Given the description of an element on the screen output the (x, y) to click on. 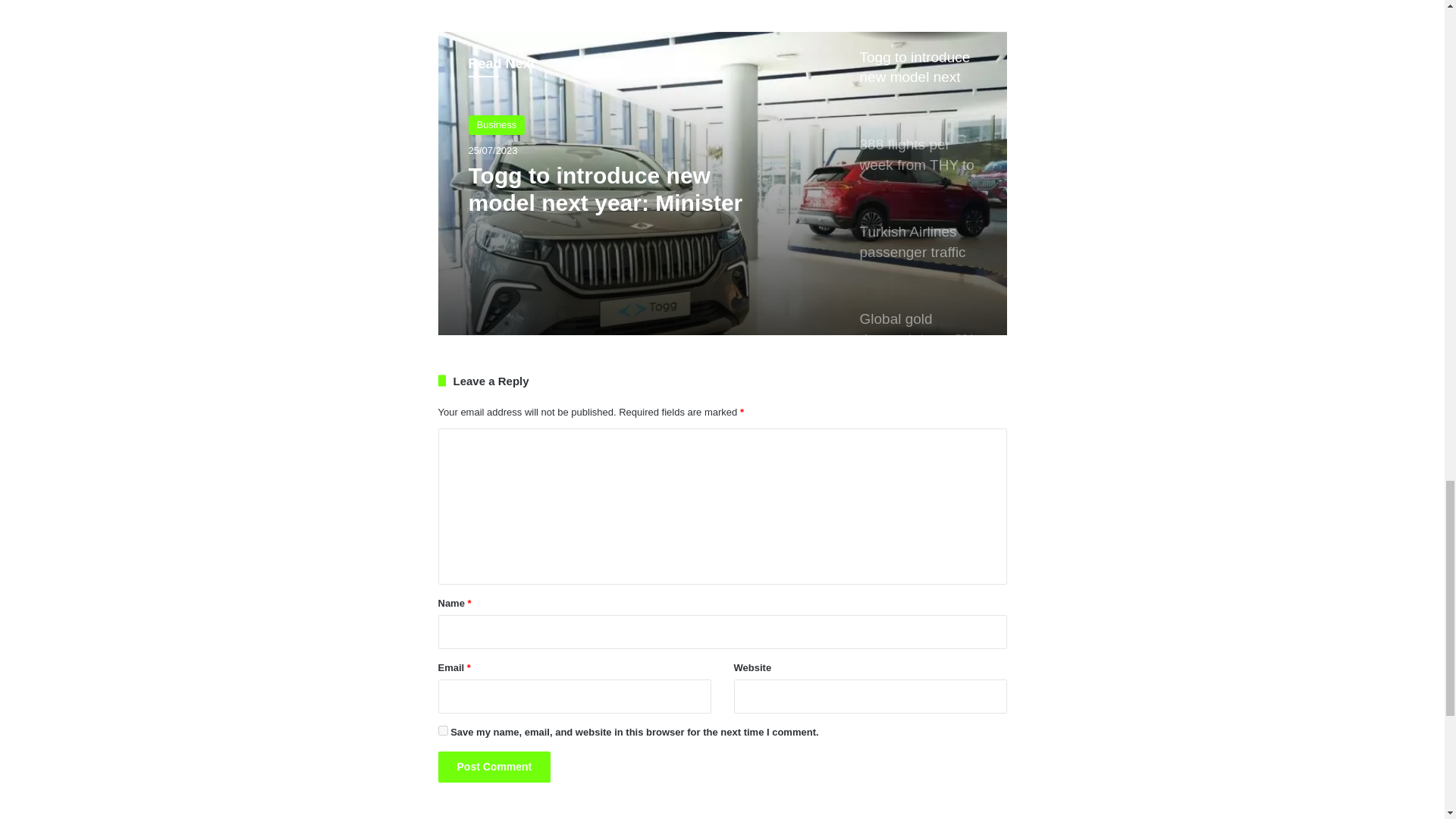
Post Comment (494, 766)
yes (443, 730)
